Given the description of an element on the screen output the (x, y) to click on. 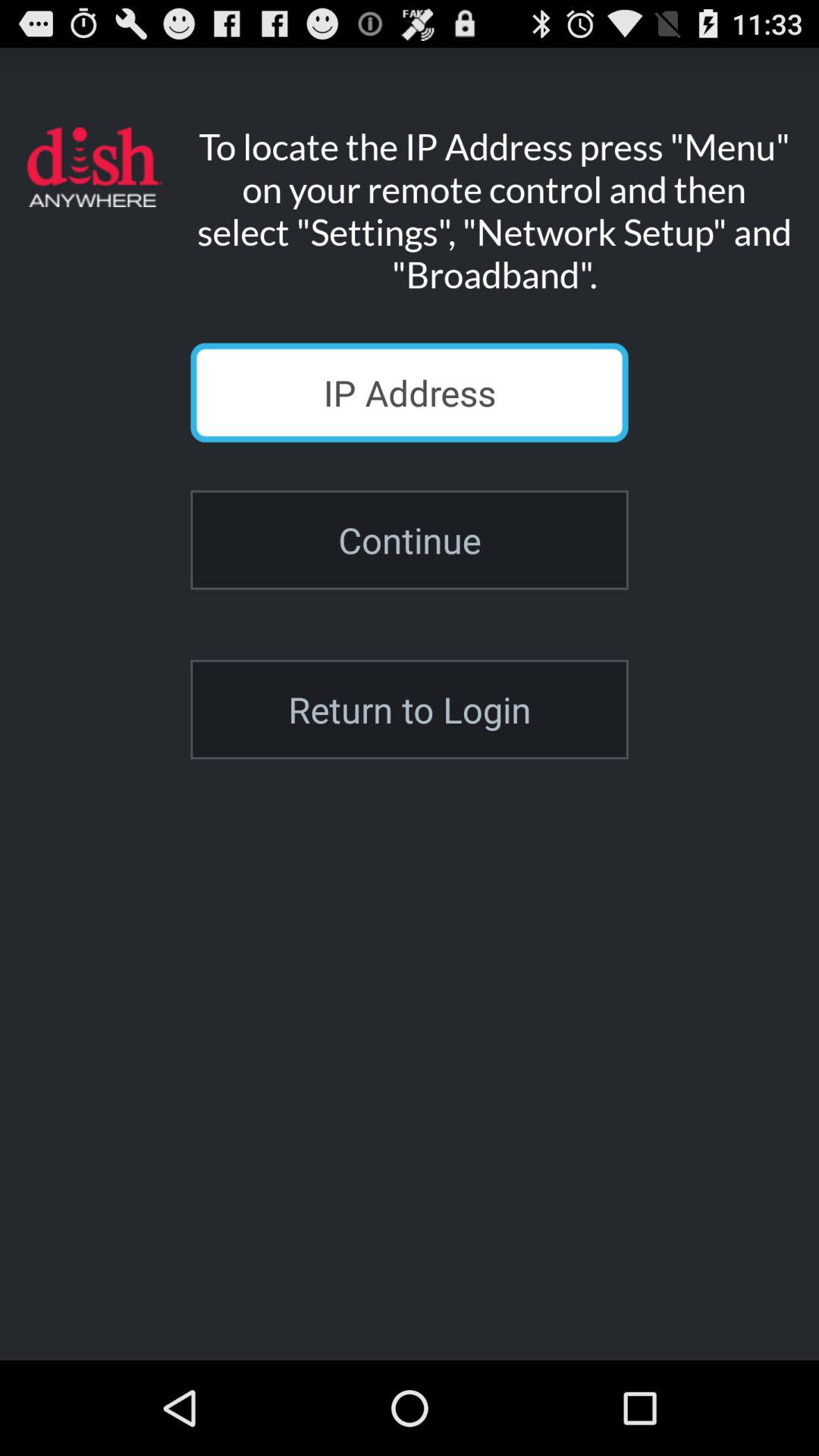
tap icon below the continue icon (409, 709)
